Given the description of an element on the screen output the (x, y) to click on. 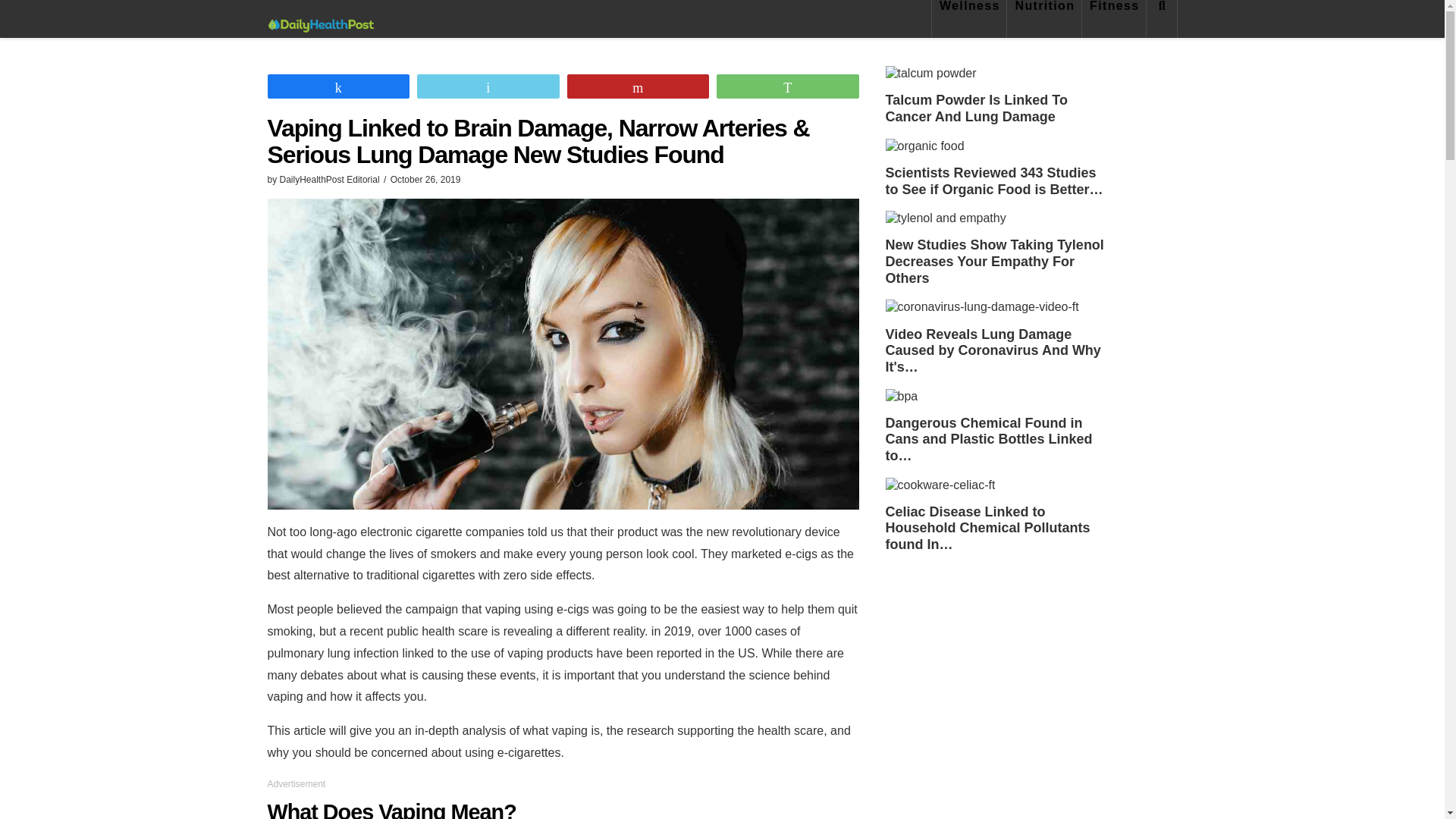
Wellness (969, 18)
Talcum Powder Is Linked To Cancer And Lung Damage (930, 73)
Fitness (1114, 18)
Nutrition (1044, 18)
